Given the description of an element on the screen output the (x, y) to click on. 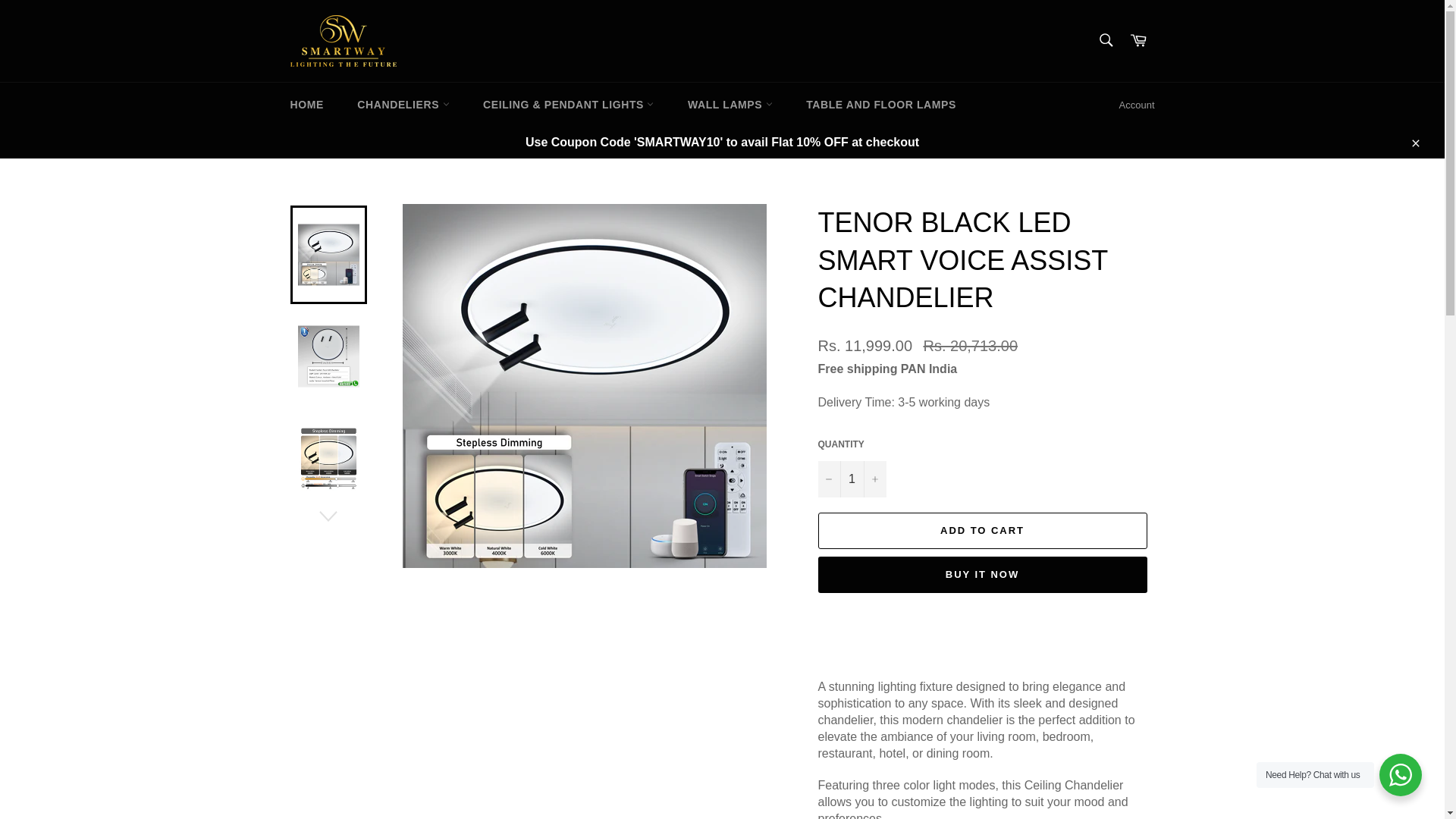
HOME (306, 104)
Cart (1138, 41)
CHANDELIERS (403, 104)
Search (1104, 40)
1 (850, 479)
